Given the description of an element on the screen output the (x, y) to click on. 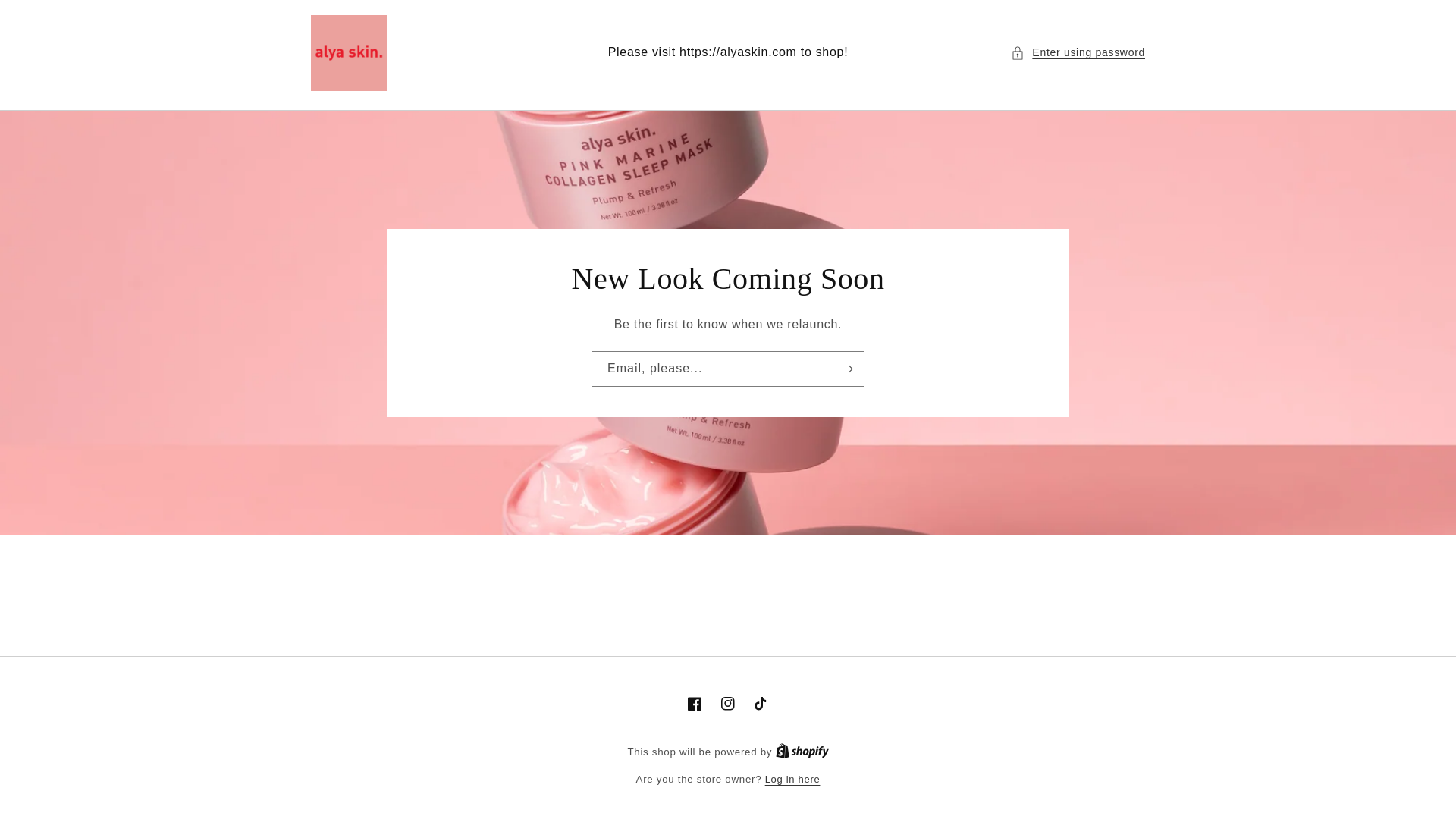
Shopify logo (802, 750)
TikTok (802, 751)
Log in here (760, 703)
Facebook (793, 779)
Create your own online store with Shopify (694, 703)
Skip to content (802, 751)
Instagram (45, 17)
